Given the description of an element on the screen output the (x, y) to click on. 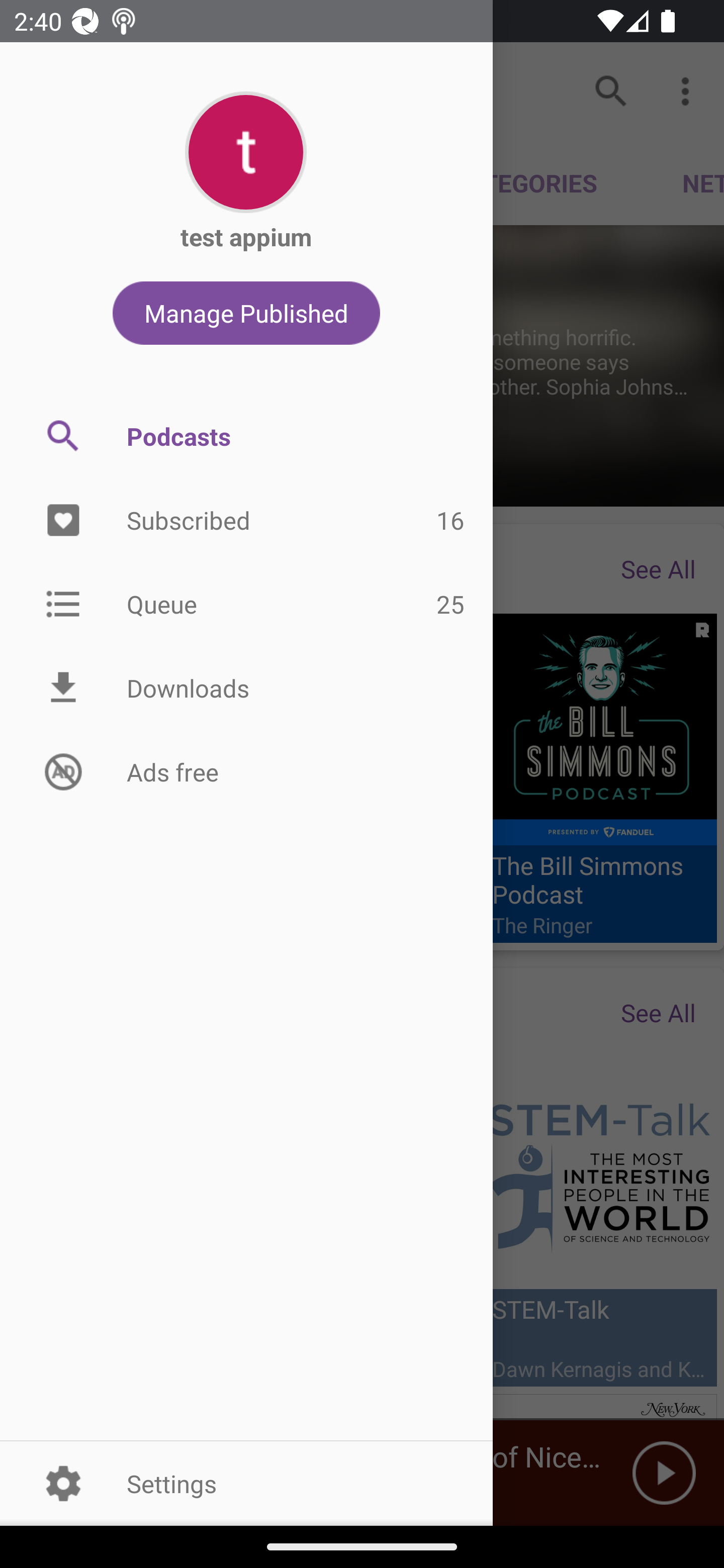
Manage Published (246, 312)
Picture Podcasts (246, 435)
Picture Subscribed 16 (246, 520)
Picture Queue 25 (246, 603)
Picture Downloads (246, 688)
Picture Ads free (246, 771)
Settings Picture Settings (246, 1482)
